Given the description of an element on the screen output the (x, y) to click on. 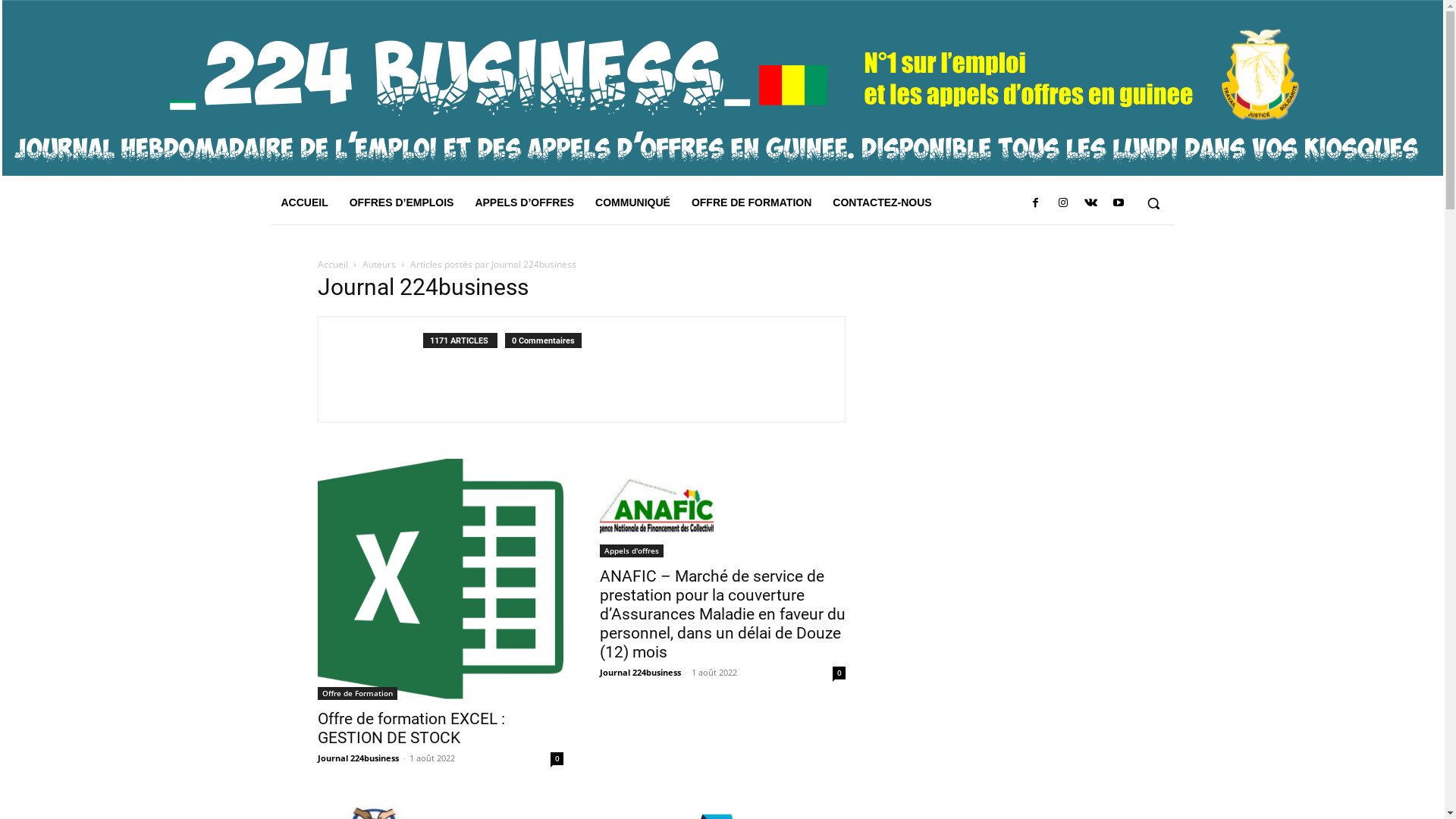
Appels d'offres Element type: text (630, 550)
VKontakte Element type: hover (1090, 202)
Offre de formation EXCEL : GESTION DE STOCK Element type: text (410, 727)
0 Element type: text (556, 758)
Youtube Element type: hover (1117, 202)
0 Element type: text (838, 672)
ACCUEIL Element type: text (303, 202)
Instagram Element type: hover (1062, 202)
Facebook Element type: hover (1034, 202)
Accueil Element type: text (331, 263)
Offre de formation EXCEL : GESTION DE STOCK Element type: hover (439, 578)
OFFRE DE FORMATION Element type: text (751, 202)
CONTACTEZ-NOUS Element type: text (881, 202)
Offre de Formation Element type: text (356, 693)
Journal 224business Element type: text (639, 671)
Journal 224business Element type: text (357, 757)
